Given the description of an element on the screen output the (x, y) to click on. 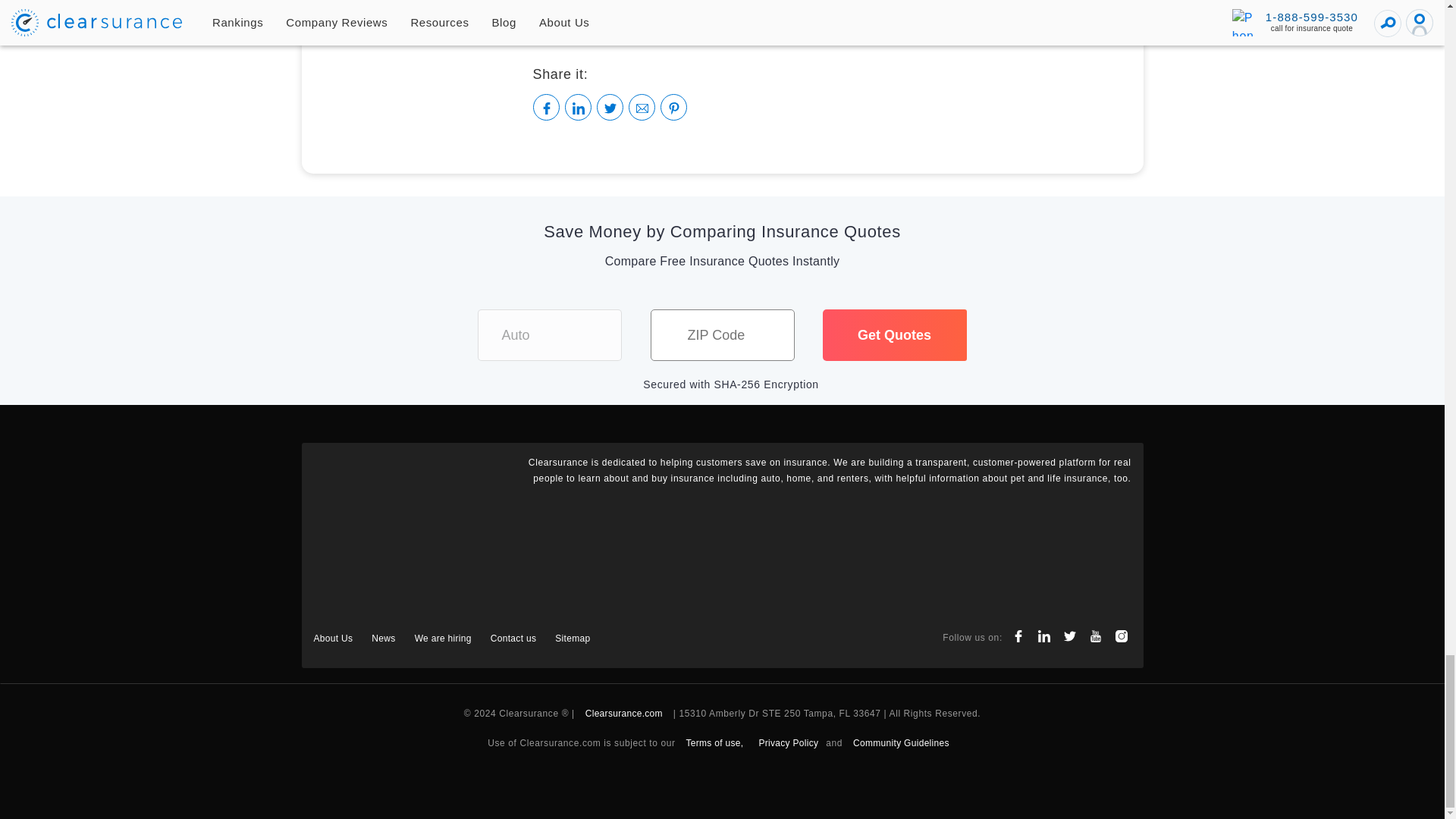
Get Quotes (894, 335)
